Given the description of an element on the screen output the (x, y) to click on. 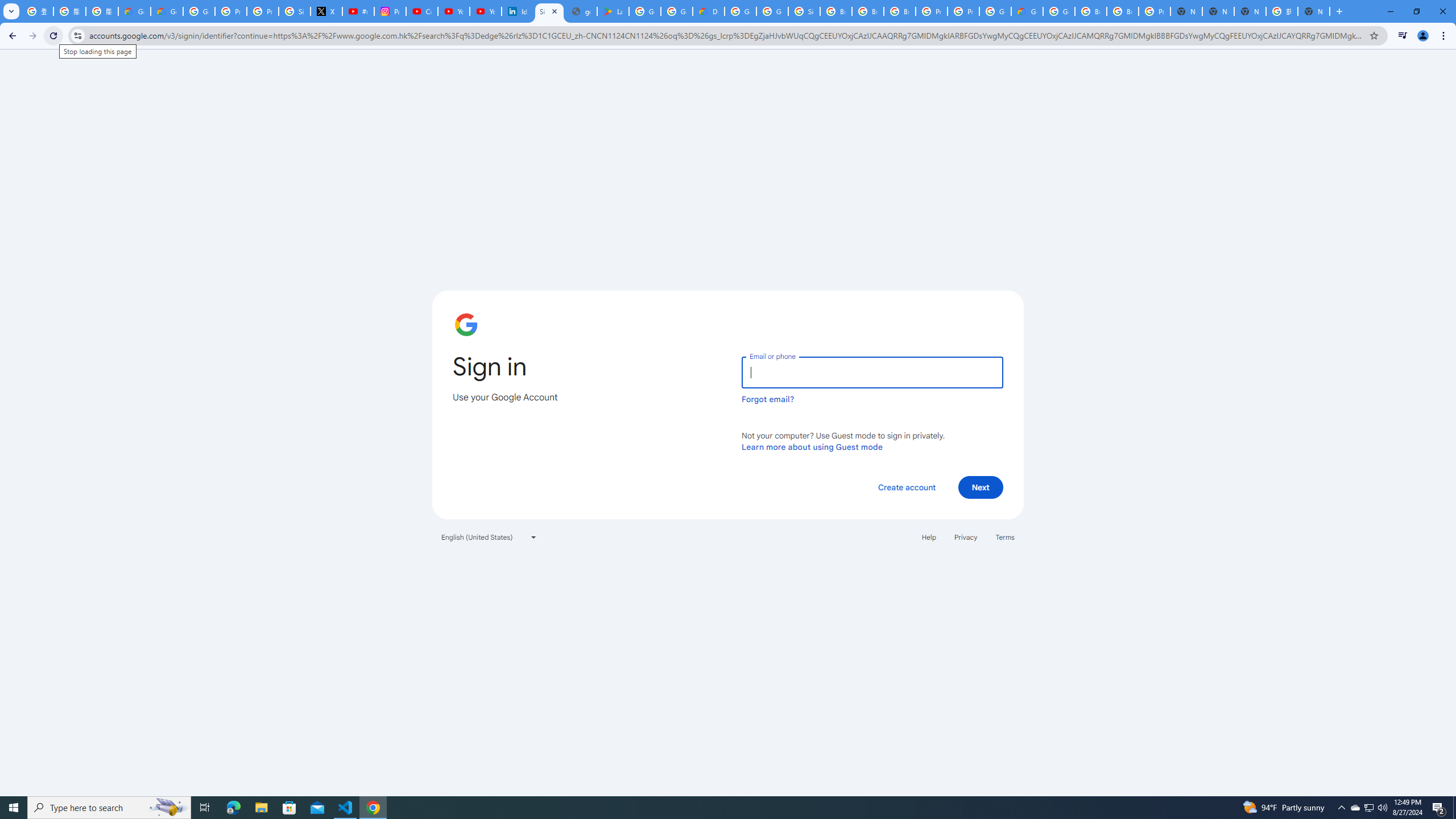
New Tab (1185, 11)
YouTube Culture & Trends - YouTube Top 10, 2021 (485, 11)
Google Cloud Platform (995, 11)
Forgot email? (767, 398)
